Given the description of an element on the screen output the (x, y) to click on. 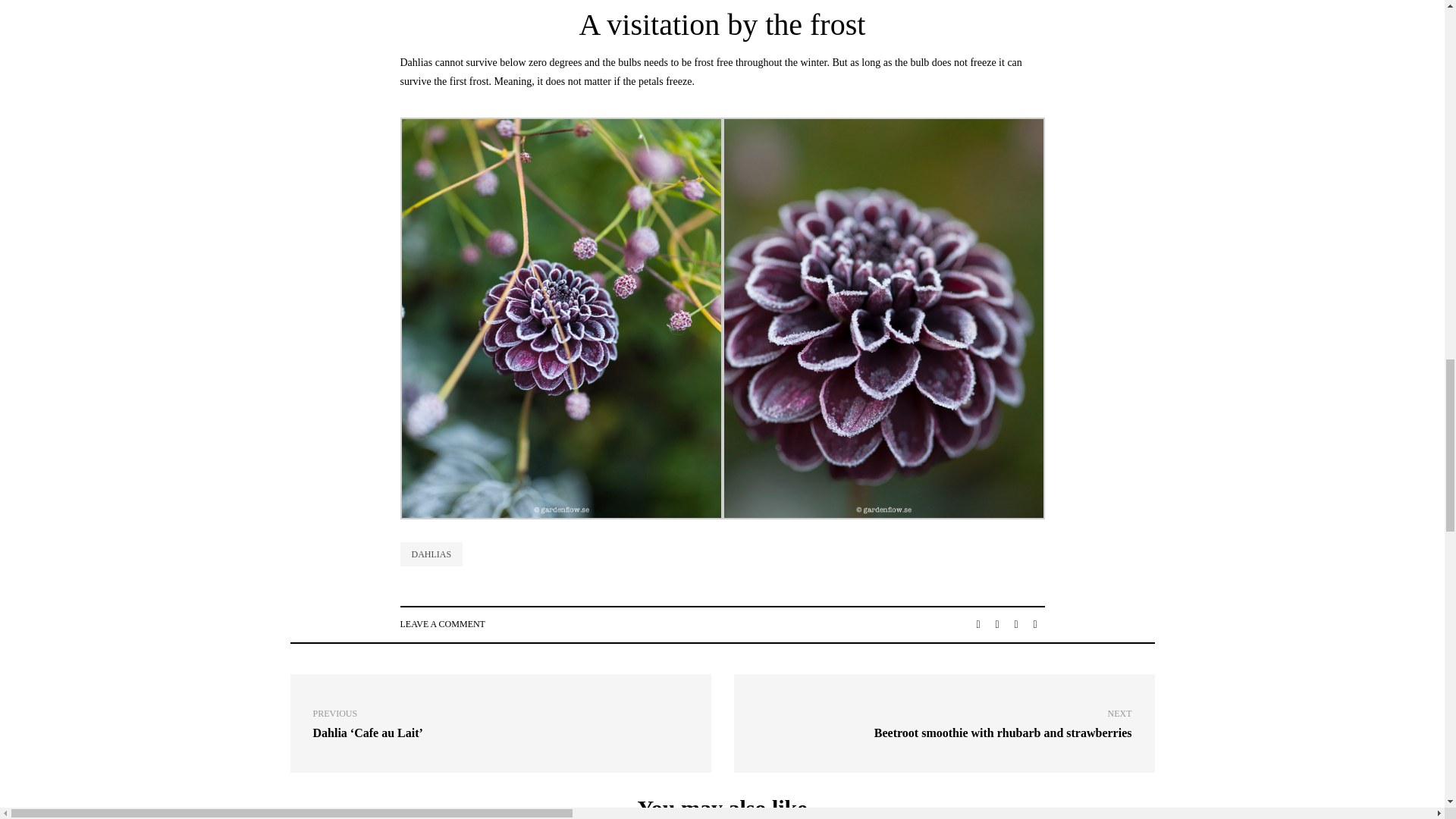
Tweet this (996, 624)
Share this (943, 723)
Share with Google Plus (978, 624)
LEAVE A COMMENT (1016, 624)
Pin this (442, 624)
DAHLIAS (1034, 624)
